Given the description of an element on the screen output the (x, y) to click on. 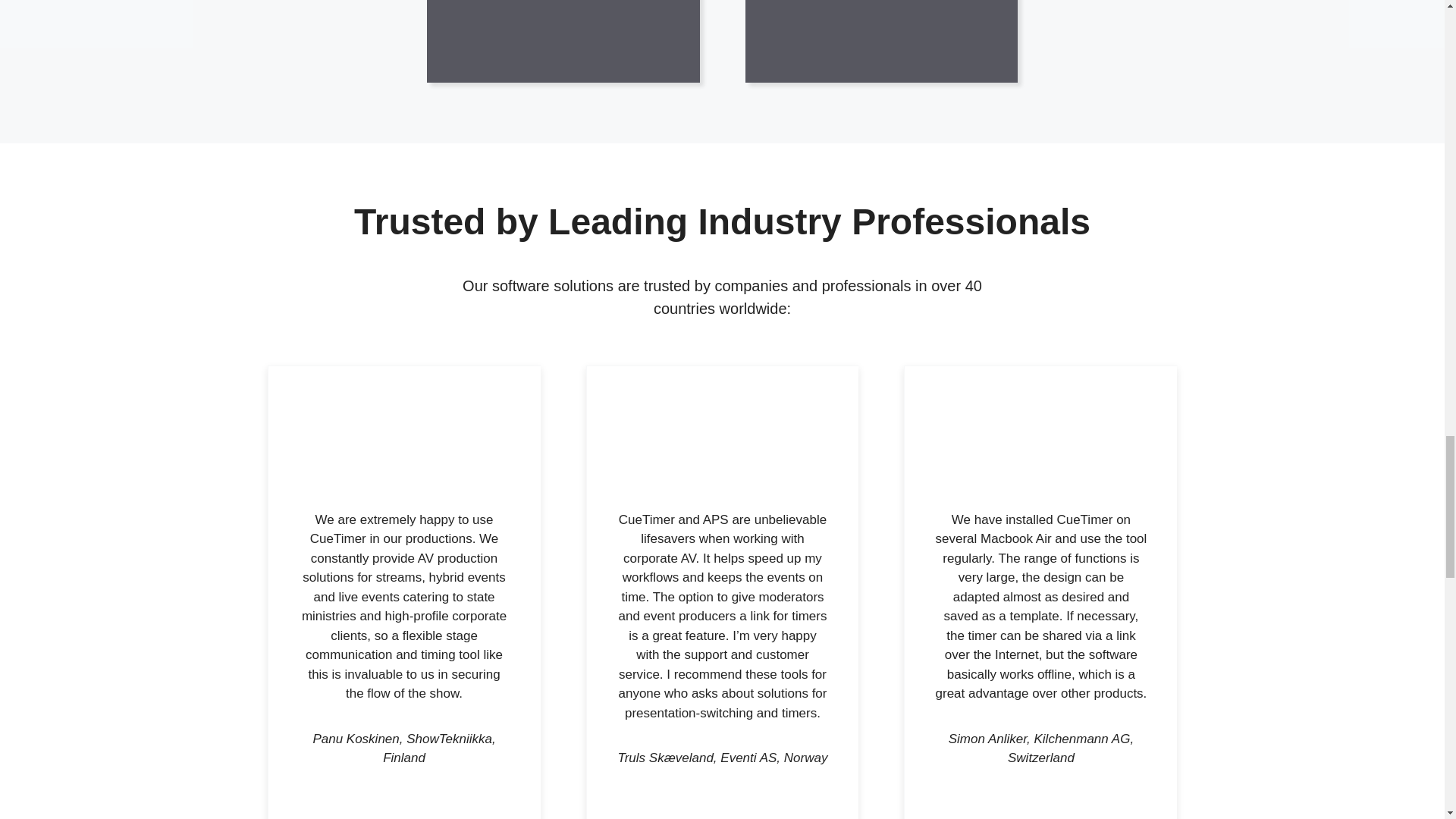
Event Organisers and Meeting Leader (858, 41)
Showtekniikka (403, 453)
Eventi (721, 453)
